Given the description of an element on the screen output the (x, y) to click on. 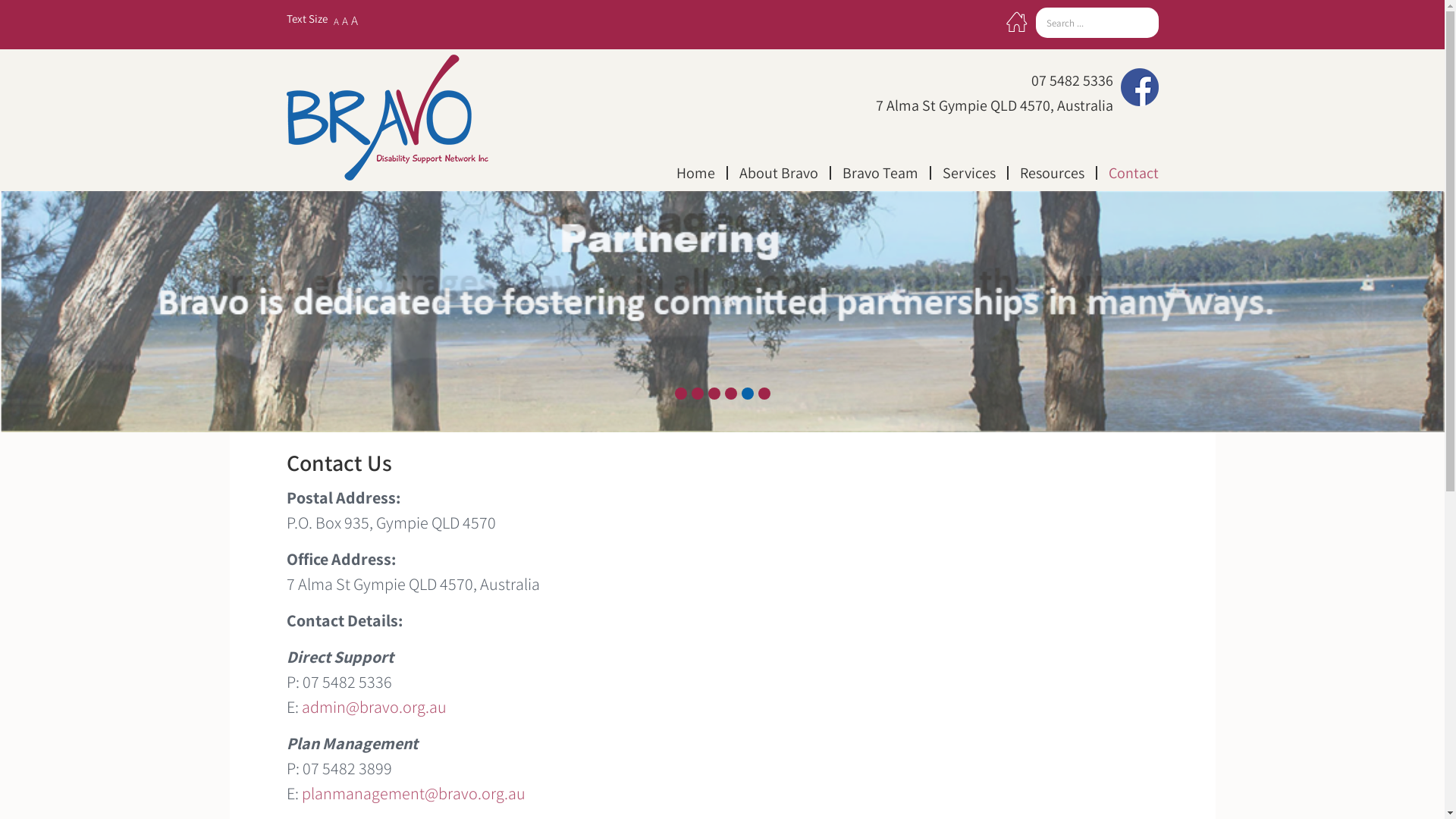
A Element type: text (344, 20)
About Bravo Element type: text (779, 172)
A Element type: text (353, 20)
A Element type: text (335, 21)
Services Element type: text (969, 172)
planmanagement@bravo.org.au Element type: text (413, 792)
Home Element type: text (695, 172)
Resources Element type: text (1052, 172)
admin@bravo.org.au Element type: text (373, 706)
Bravo Team Element type: text (881, 172)
Contact Element type: text (1126, 172)
